Given the description of an element on the screen output the (x, y) to click on. 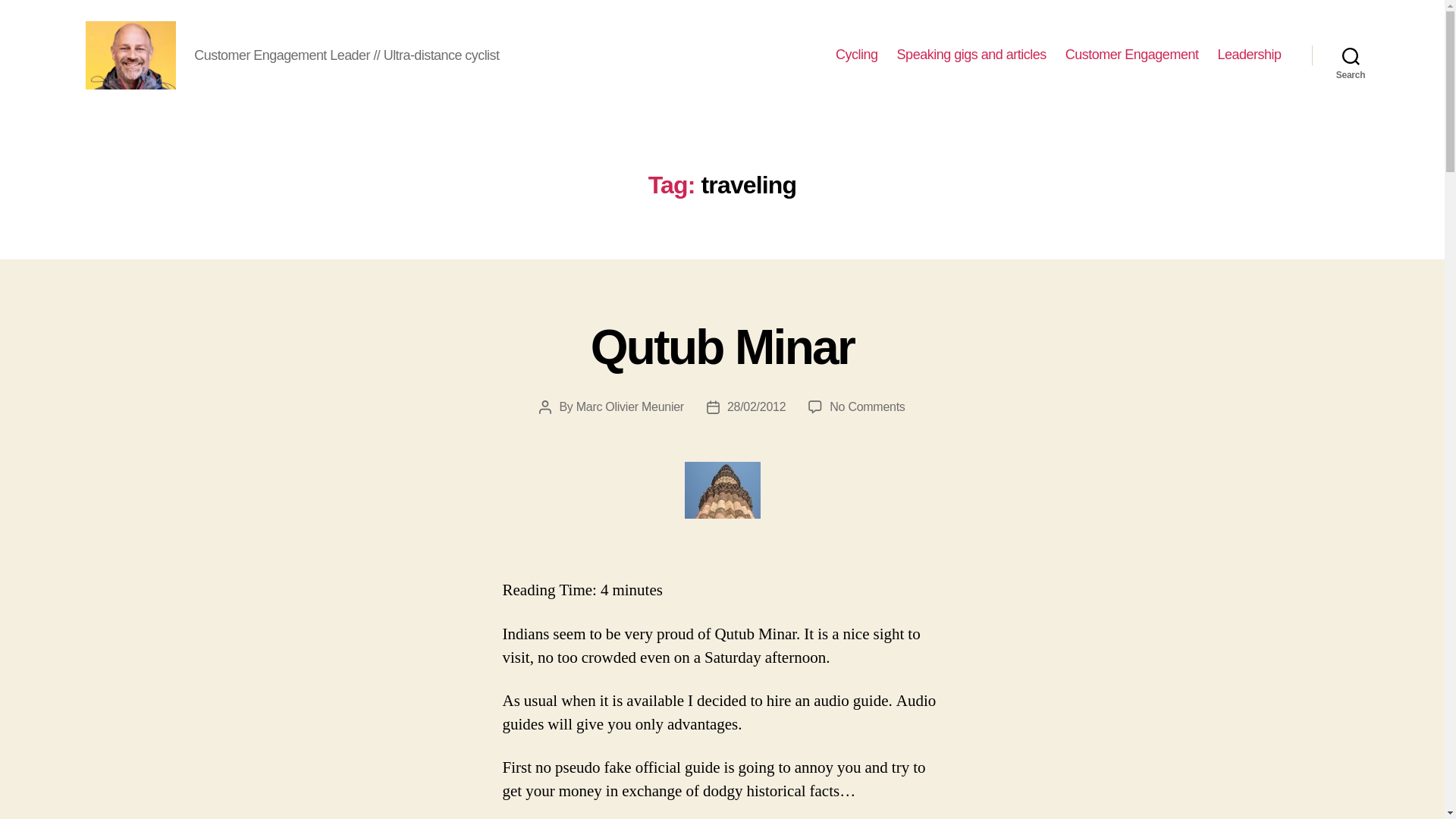
Leadership (1249, 54)
Speaking gigs and articles (971, 54)
Customer Engagement (1131, 54)
Search (866, 406)
Qutub Minar (1350, 55)
Cycling (722, 347)
Marc Olivier Meunier (856, 54)
